Given the description of an element on the screen output the (x, y) to click on. 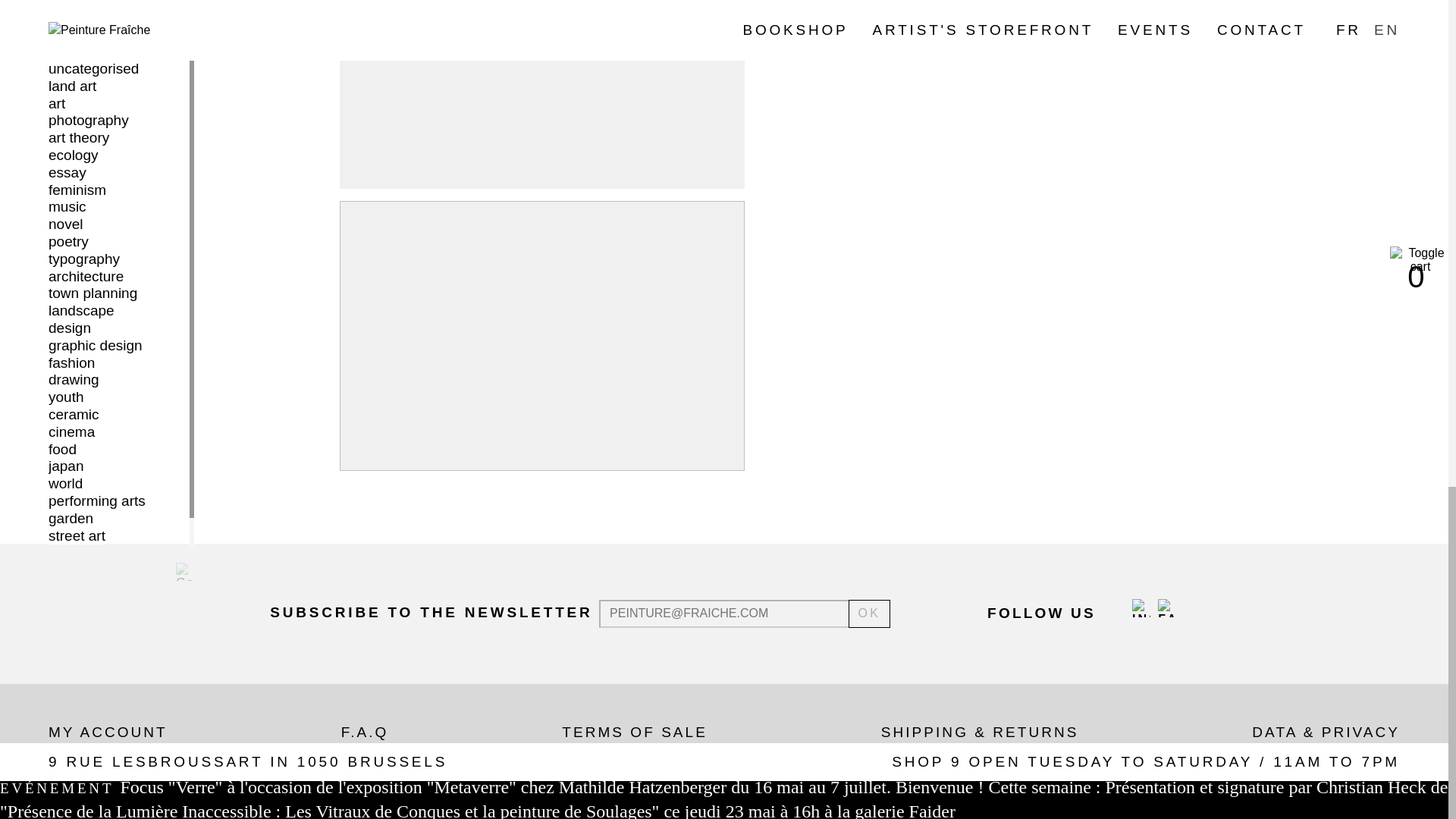
My Account (107, 731)
OK (869, 613)
Terms of sale (634, 731)
F.A.Q (364, 731)
